Given the description of an element on the screen output the (x, y) to click on. 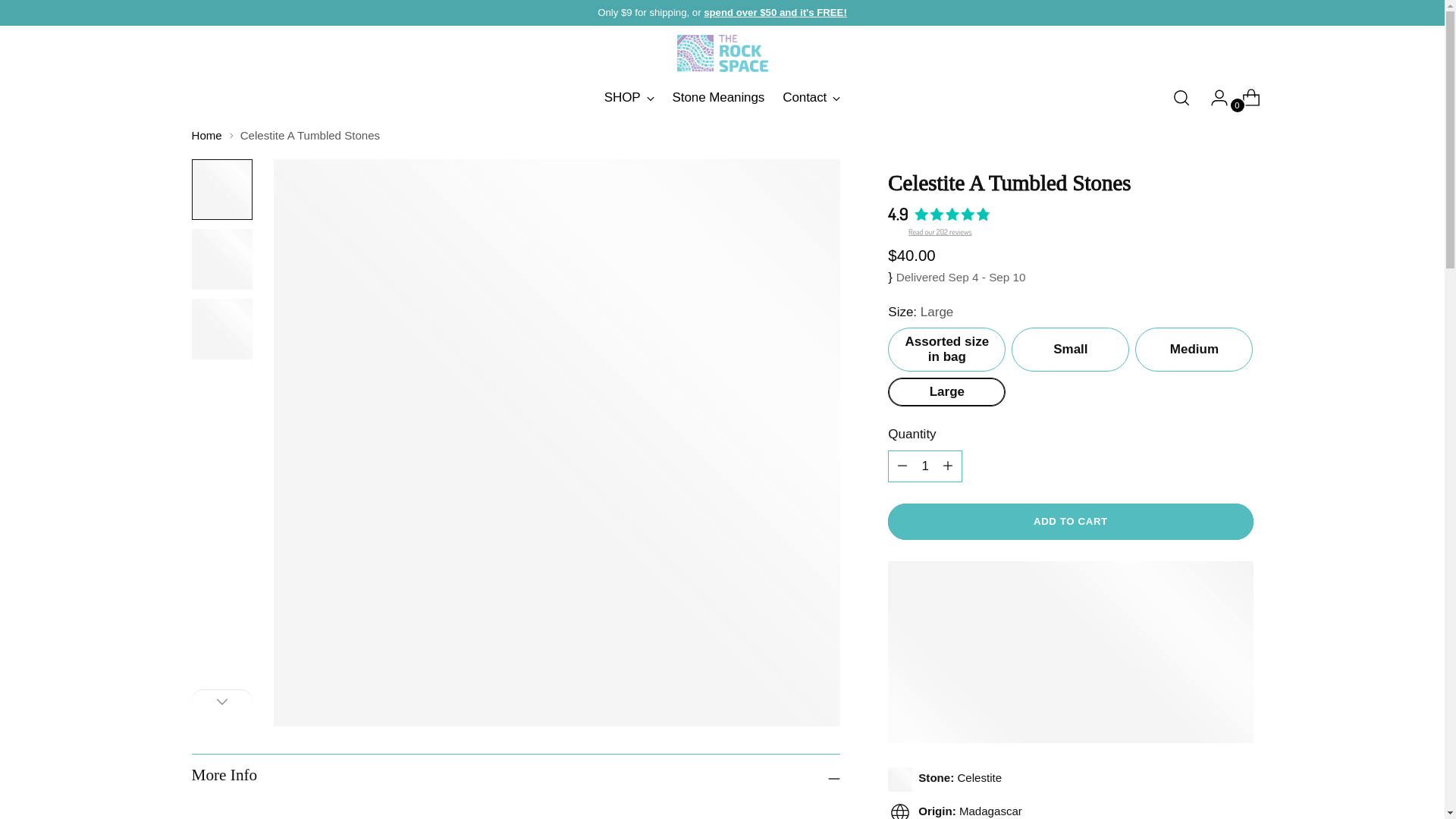
Shipping Policy (775, 12)
SHOP (722, 97)
1 (628, 97)
Down (925, 466)
